Given the description of an element on the screen output the (x, y) to click on. 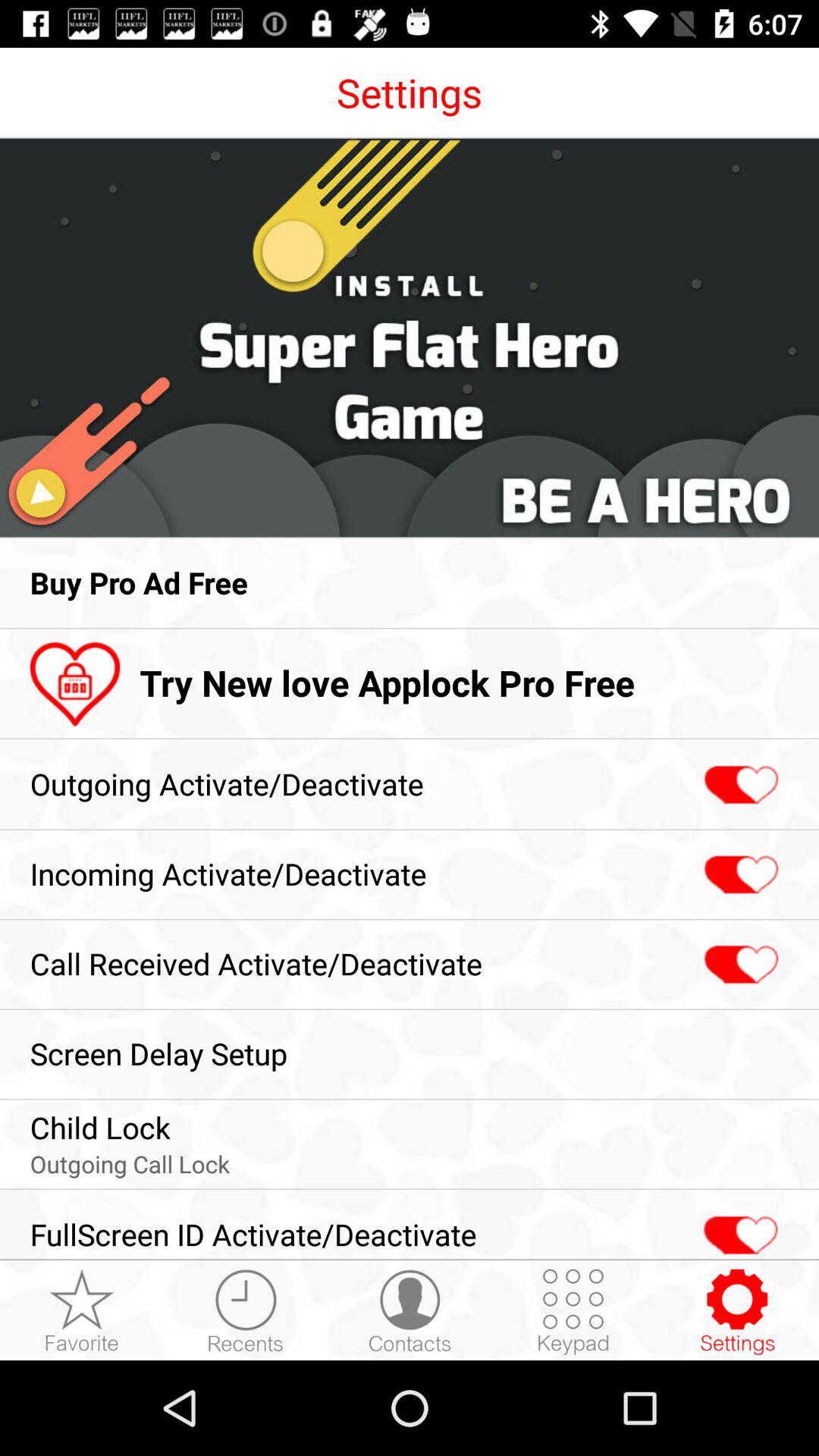
launch the icon to the right of fullscreen id activate app (573, 1311)
